Given the description of an element on the screen output the (x, y) to click on. 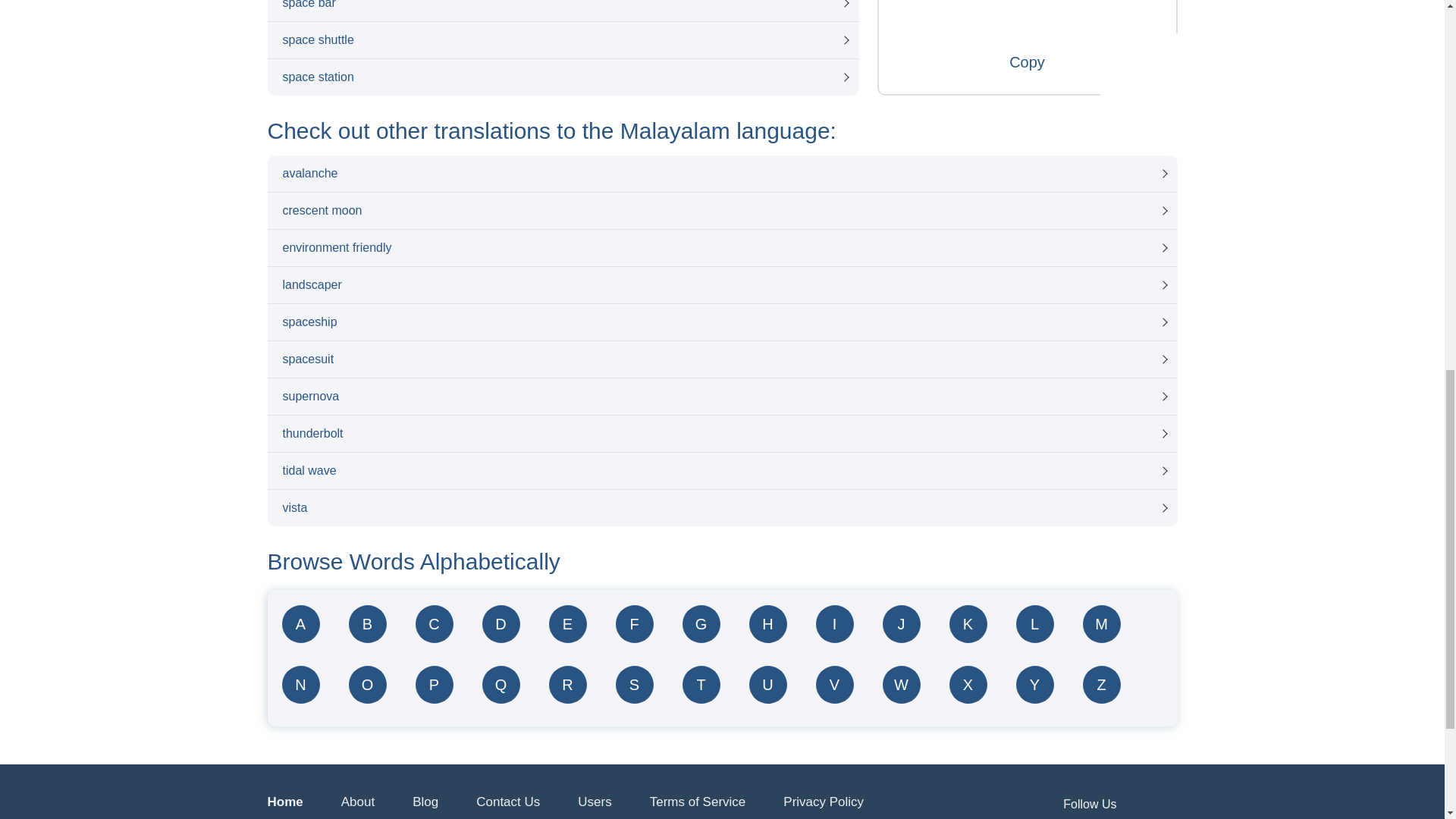
space shuttle (562, 40)
landscaper (721, 284)
avalanche (721, 173)
space bar (562, 10)
environment friendly (721, 248)
space station (562, 76)
spaceship (721, 321)
supernova (721, 396)
thunderbolt (721, 433)
crescent moon (721, 210)
